Given the description of an element on the screen output the (x, y) to click on. 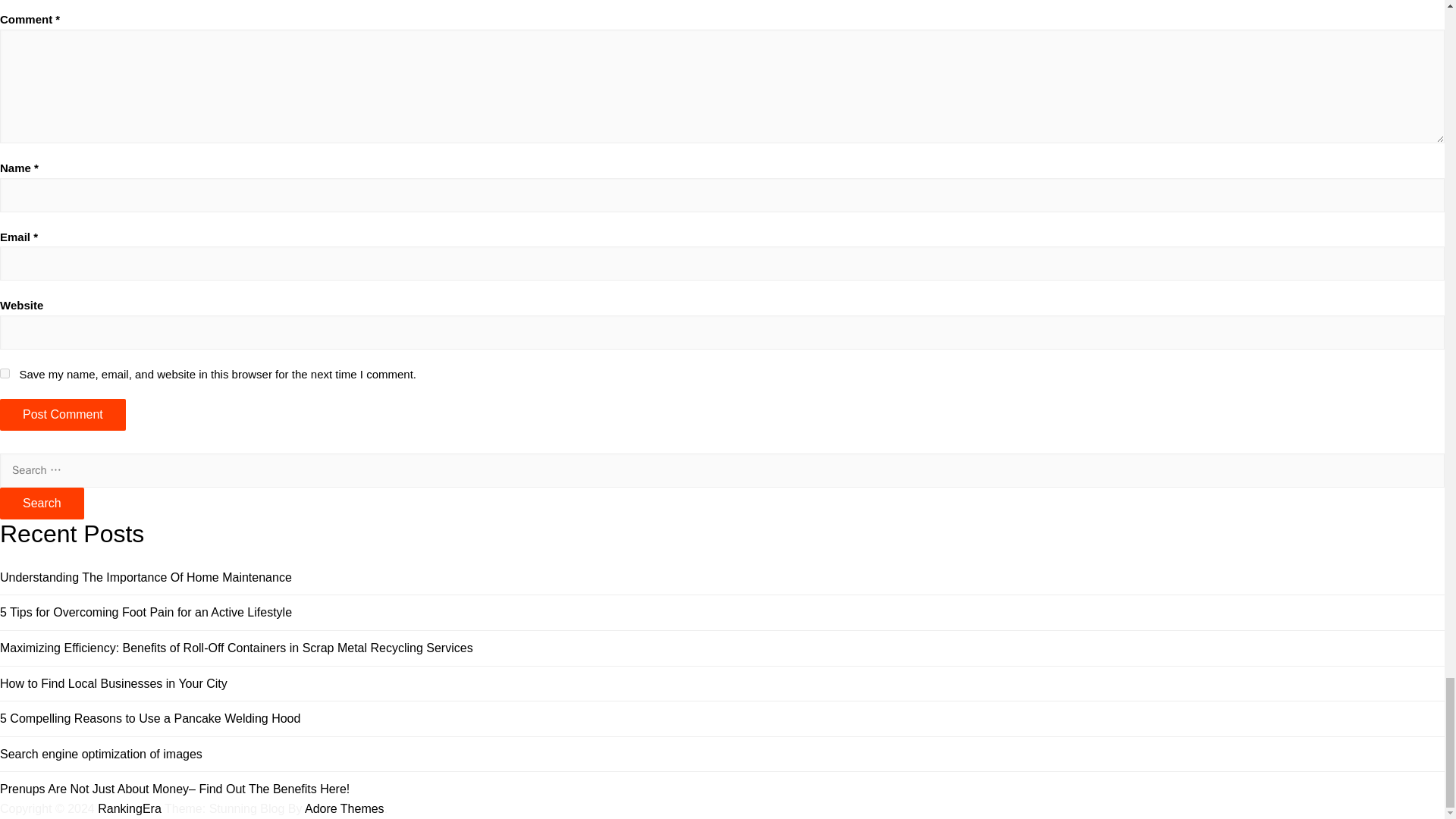
Post Comment (62, 414)
yes (5, 373)
Post Comment (62, 414)
Search (42, 503)
Search (42, 503)
